Given the description of an element on the screen output the (x, y) to click on. 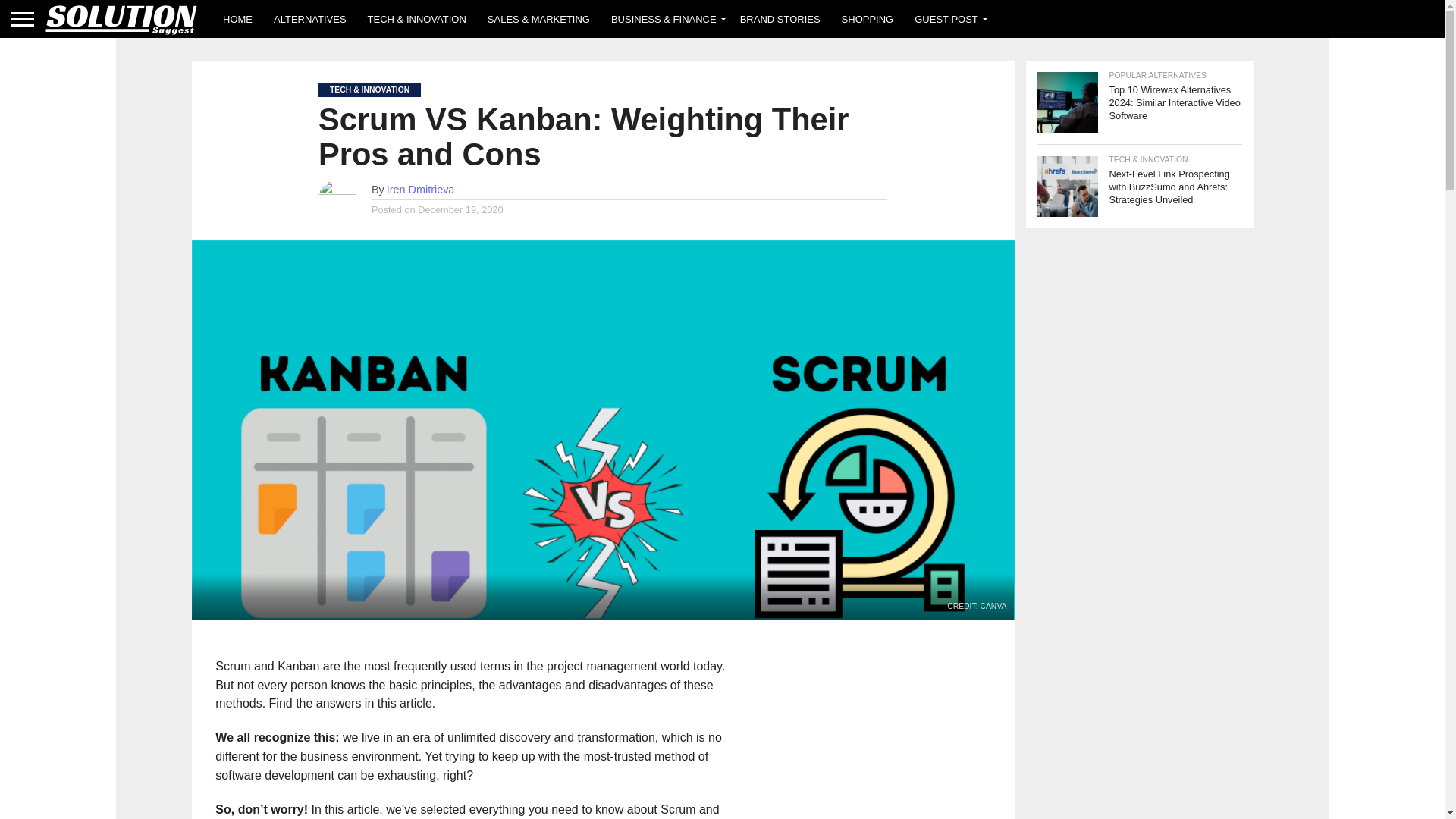
ALTERNATIVES (309, 18)
Iren Dmitrieva (420, 189)
GUEST POST (947, 18)
SHOPPING (867, 18)
Posts by Iren Dmitrieva (420, 189)
BRAND STORIES (780, 18)
HOME (237, 18)
